Given the description of an element on the screen output the (x, y) to click on. 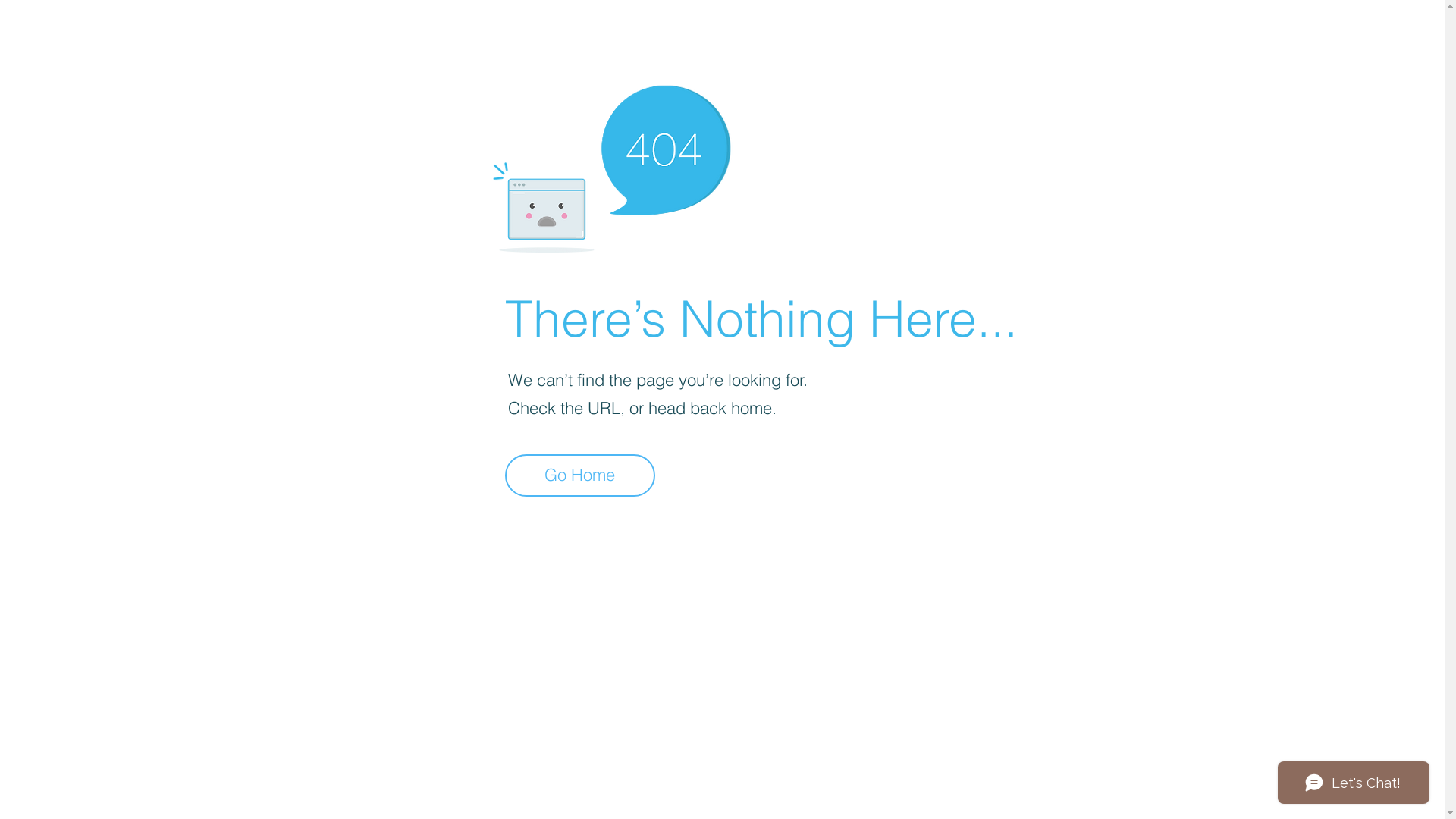
404-icon_2.png Element type: hover (610, 164)
Go Home Element type: text (580, 475)
